Given the description of an element on the screen output the (x, y) to click on. 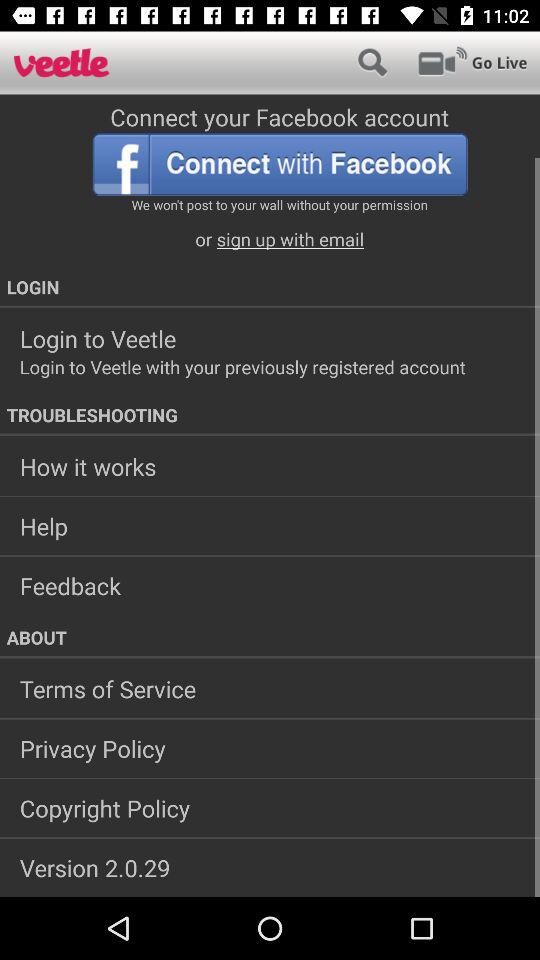
select the icon below the about icon (270, 689)
